Given the description of an element on the screen output the (x, y) to click on. 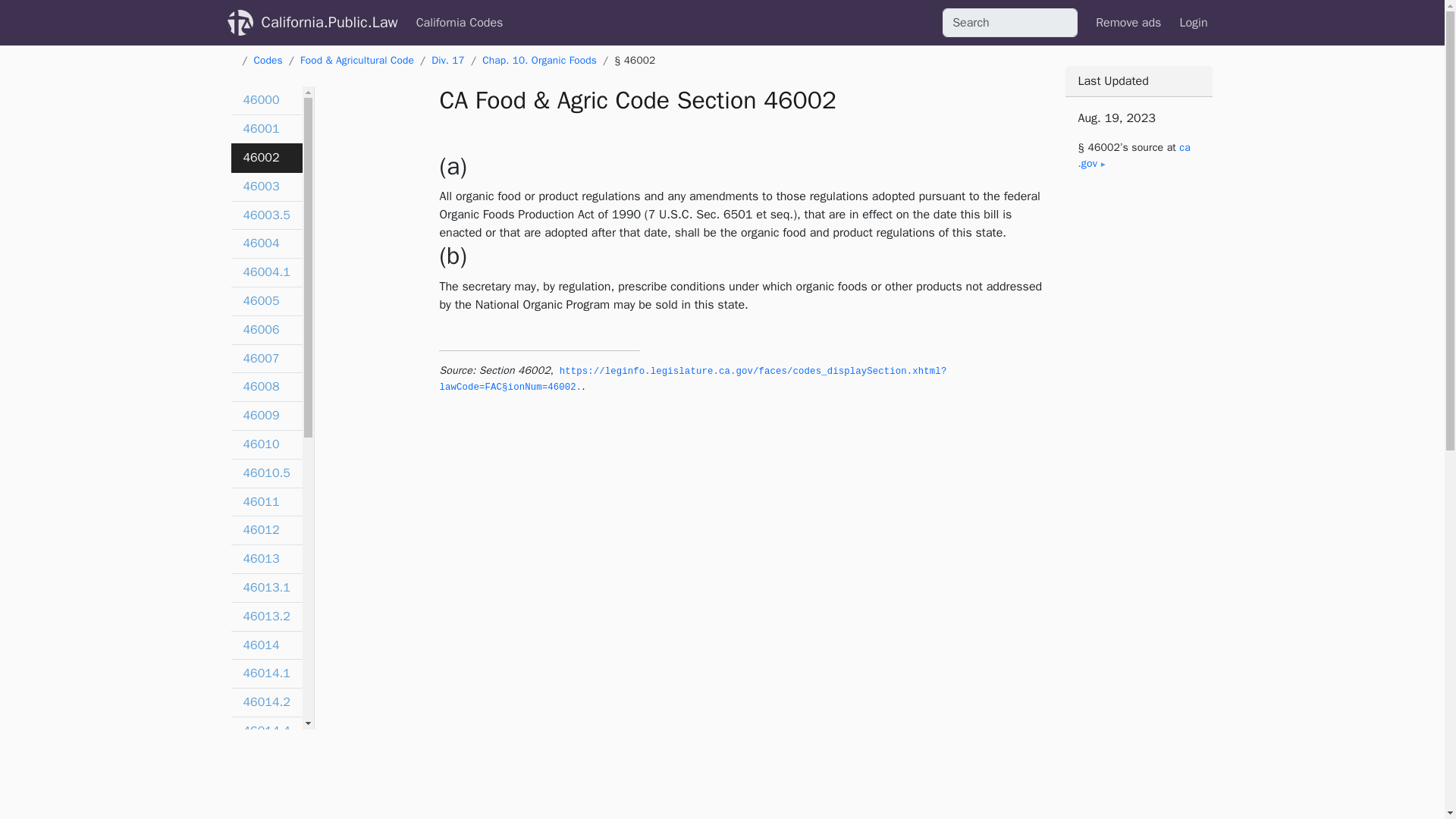
46010 (265, 444)
46014.6 (265, 760)
46005 (265, 301)
46013.1 (265, 588)
46004.1 (265, 272)
46014.1 (265, 674)
46001 (265, 129)
46007 (265, 358)
46016.1 (265, 811)
Div. 17 (447, 60)
46013.2 (265, 616)
California.Public.Law (328, 22)
46015 (265, 788)
Remove ads (1128, 22)
California Codes (459, 22)
